Given the description of an element on the screen output the (x, y) to click on. 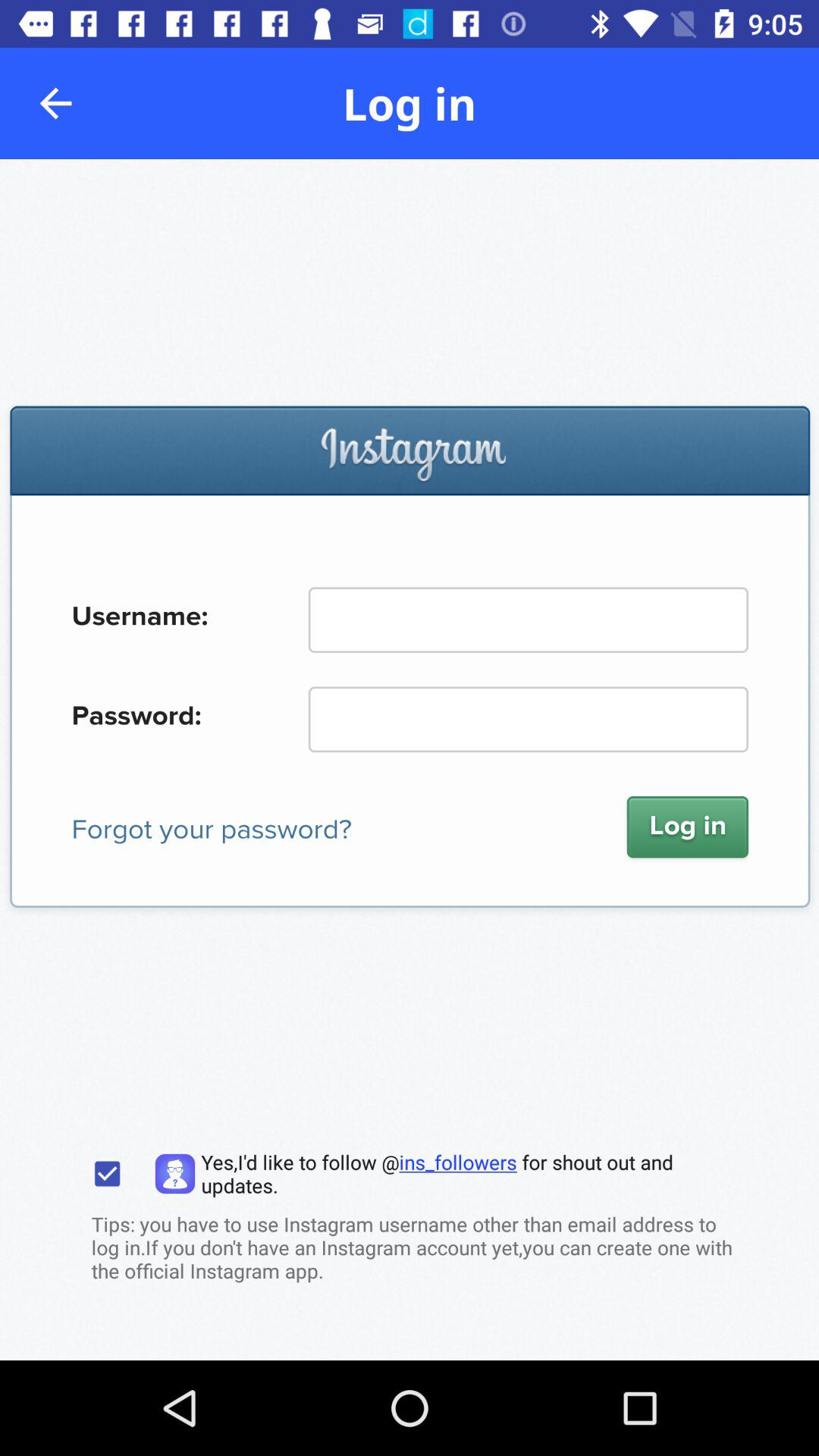
toggle option to follow (107, 1173)
